Given the description of an element on the screen output the (x, y) to click on. 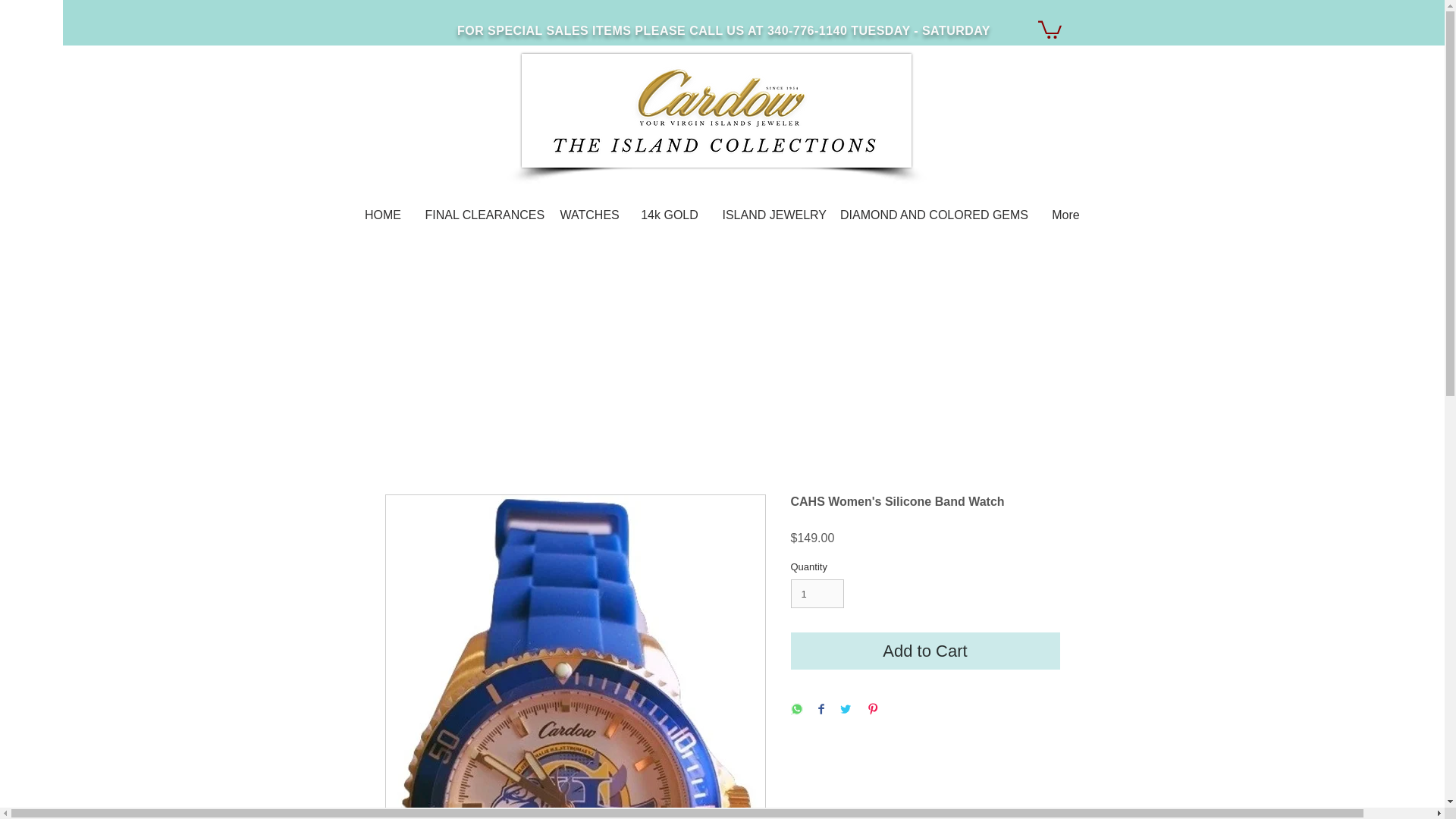
1 (817, 593)
Add to Cart (924, 650)
Cardow-LOGO-2015-Gold-HIGHRES.jpg (716, 110)
HOME (382, 215)
14k GOLD (668, 215)
FINAL CLEARANCES (480, 215)
DIAMOND AND COLORED GEMS (933, 215)
